Given the description of an element on the screen output the (x, y) to click on. 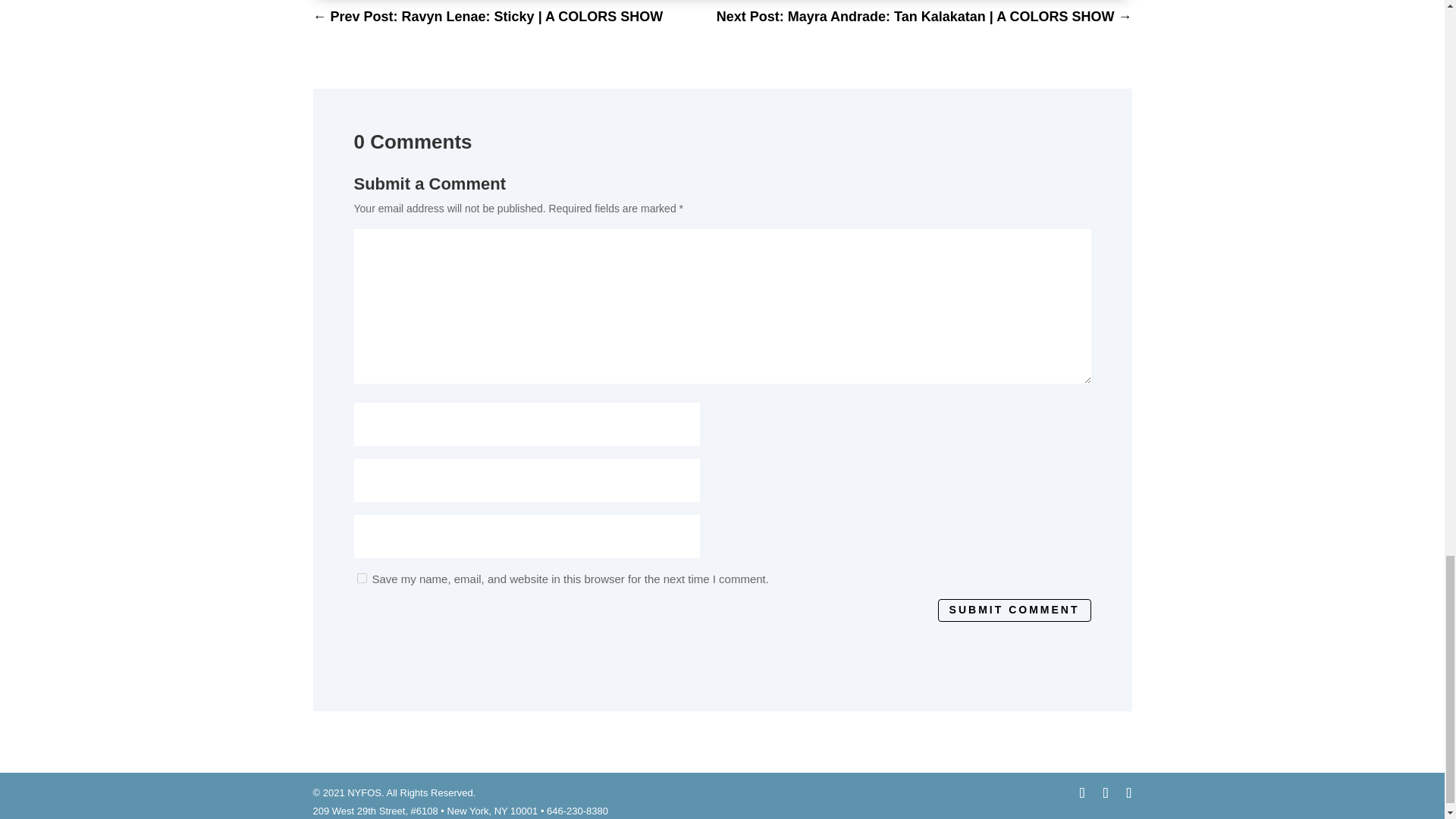
yes (361, 578)
SUBMIT COMMENT (1013, 609)
